Given the description of an element on the screen output the (x, y) to click on. 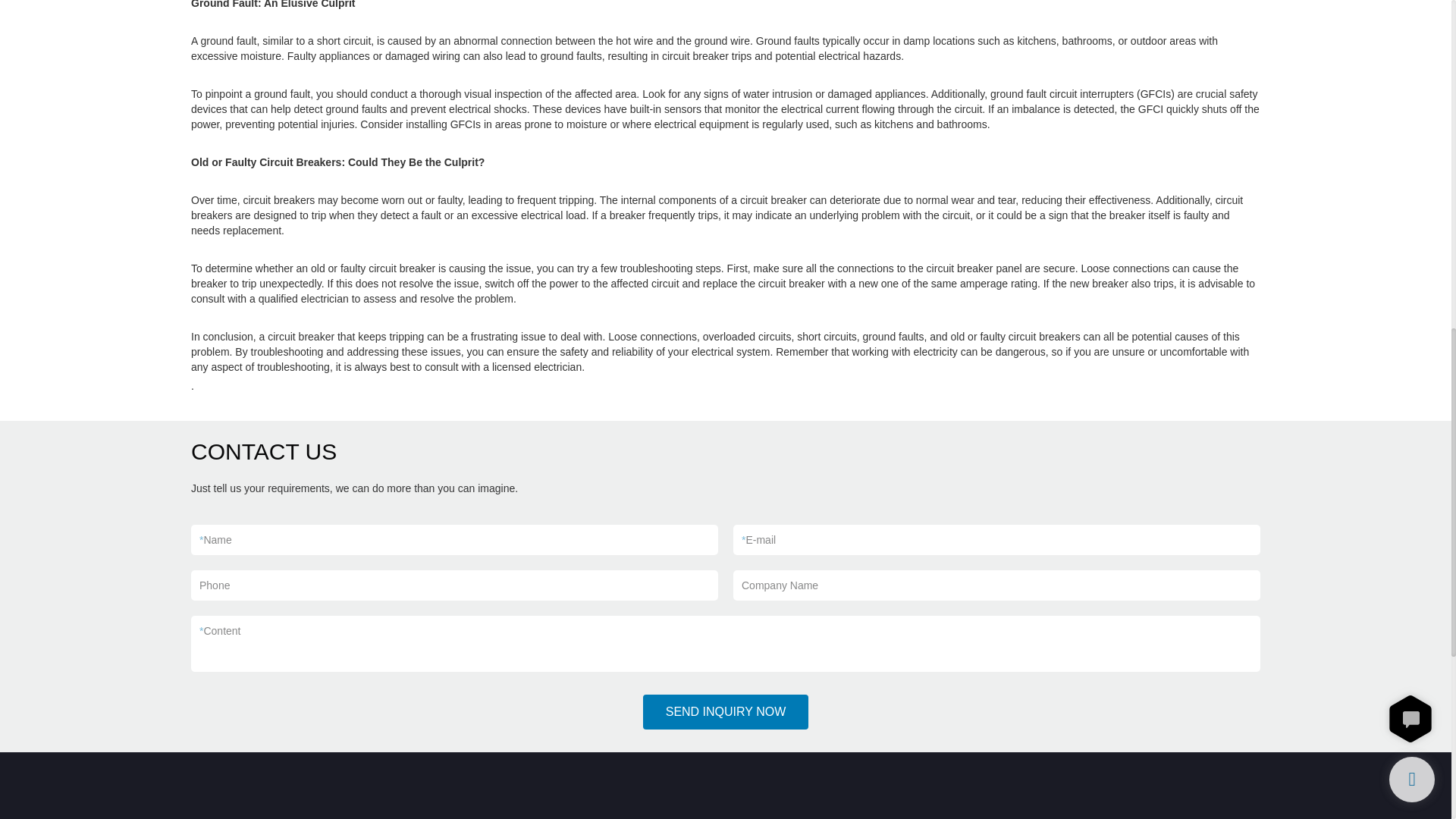
SEND INQUIRY NOW (726, 711)
